Given the description of an element on the screen output the (x, y) to click on. 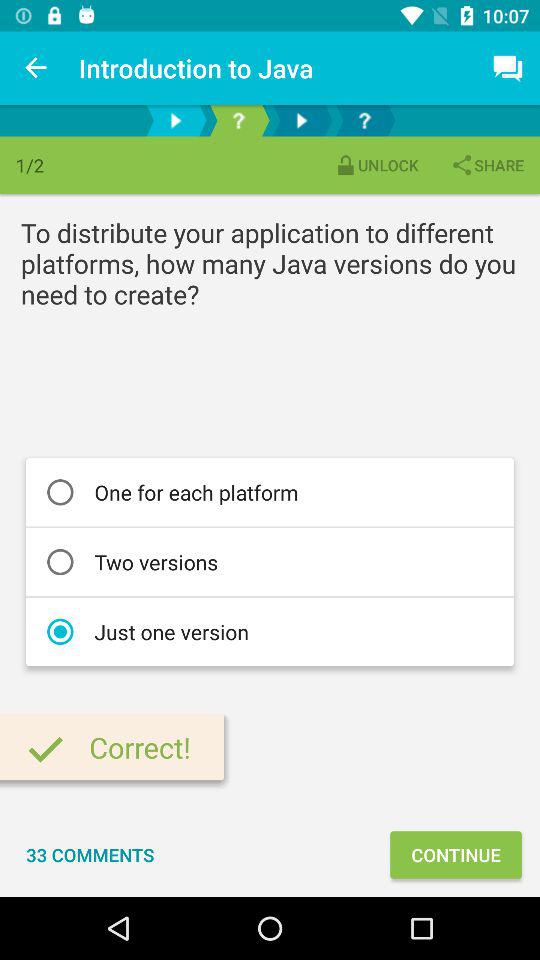
turn on the 33 comments item (90, 854)
